Given the description of an element on the screen output the (x, y) to click on. 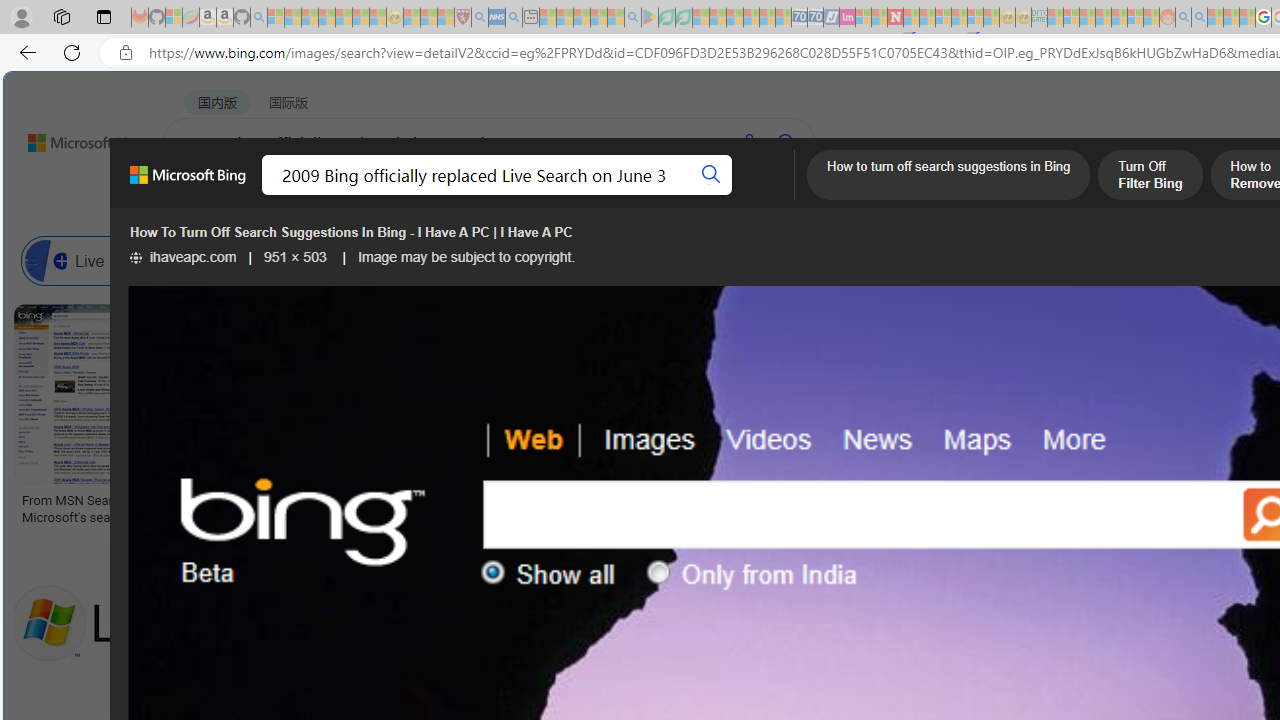
Bing Word Search (648, 260)
Class: b_pri_nav_svg (423, 196)
Search button (712, 174)
Search using voice (748, 142)
MORE (793, 195)
